Given the description of an element on the screen output the (x, y) to click on. 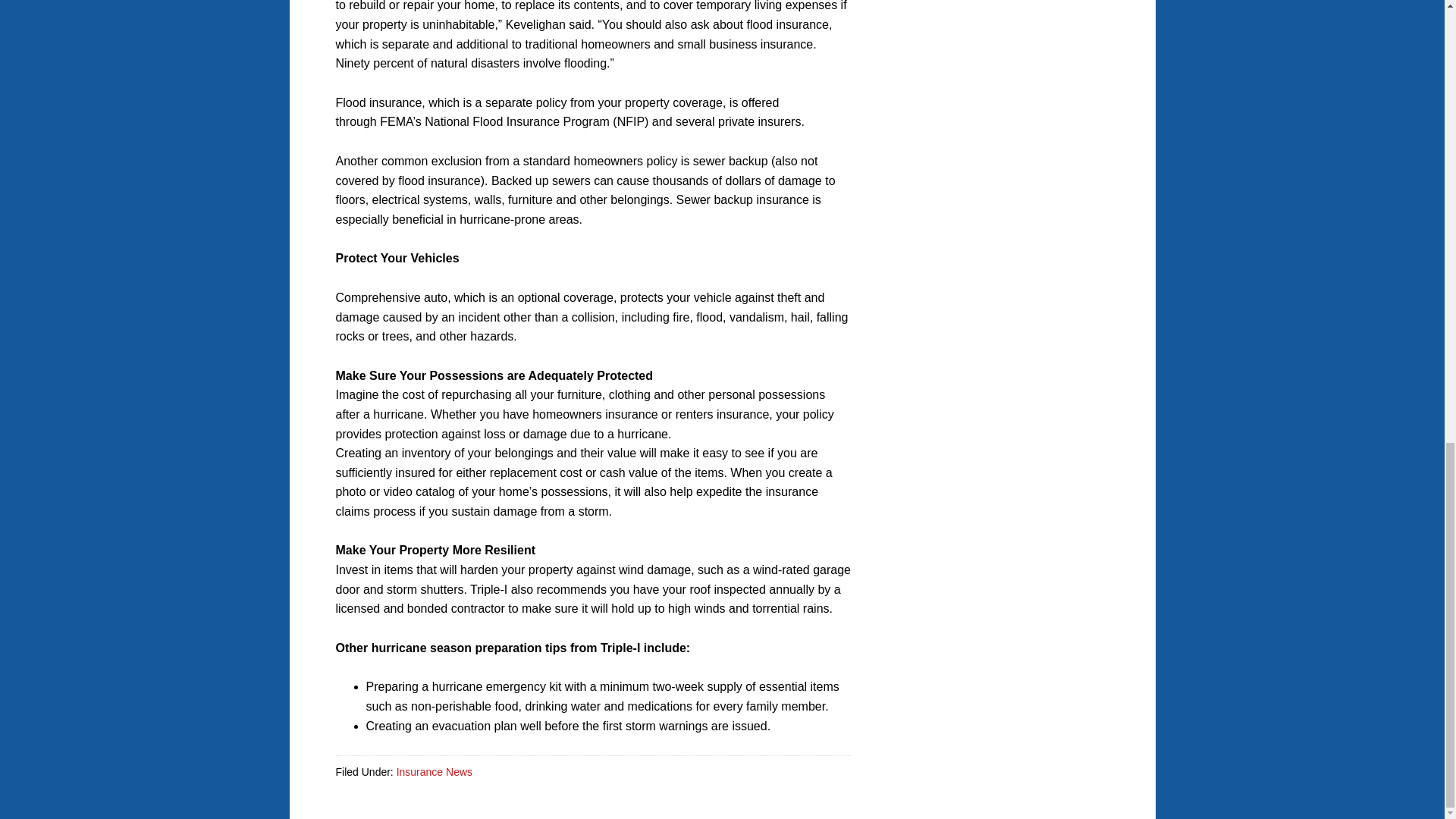
Insurance News (433, 771)
